Given the description of an element on the screen output the (x, y) to click on. 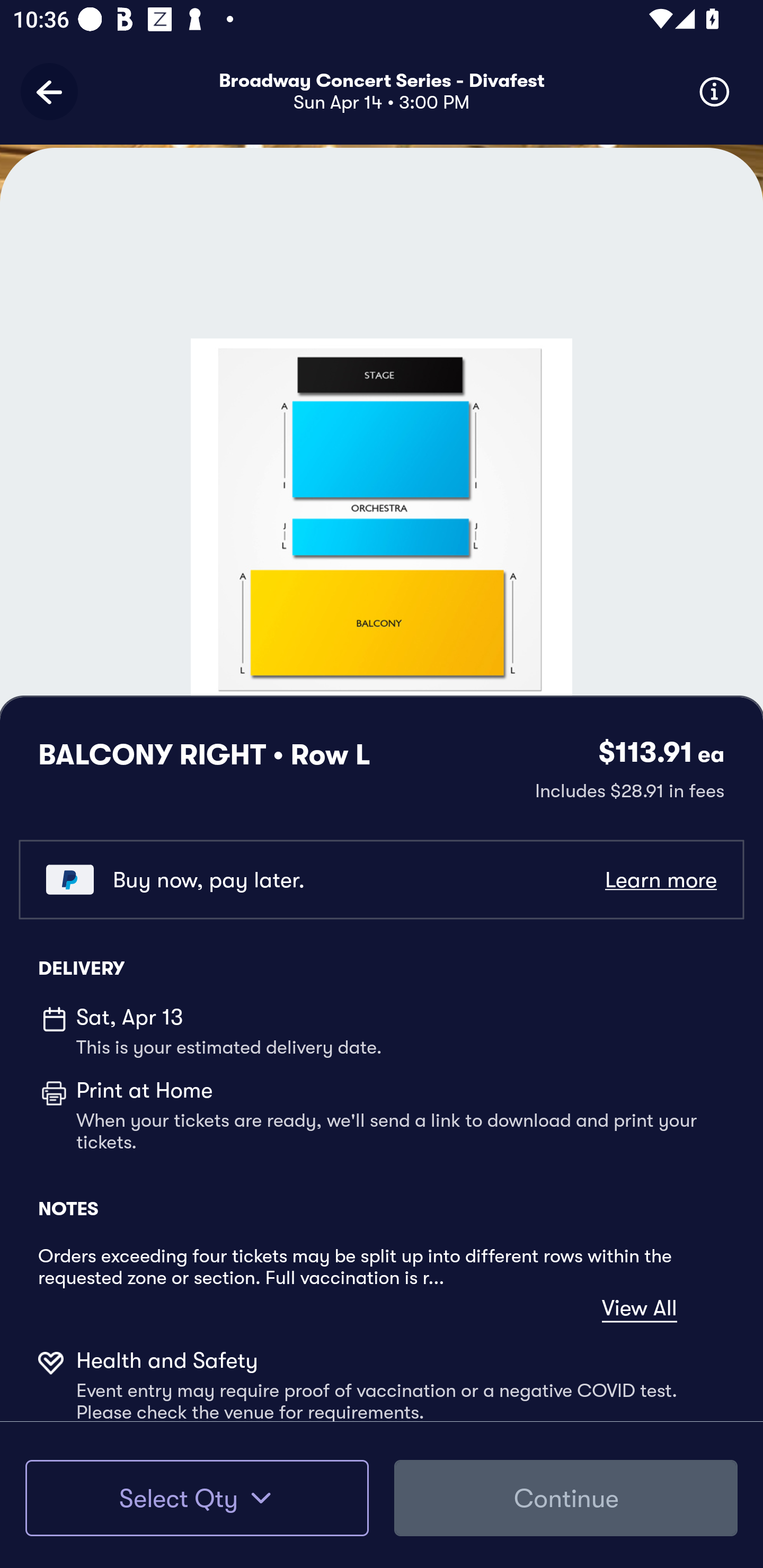
Learn more (660, 880)
View All (639, 1308)
Select Qty (196, 1497)
Continue (565, 1497)
